Given the description of an element on the screen output the (x, y) to click on. 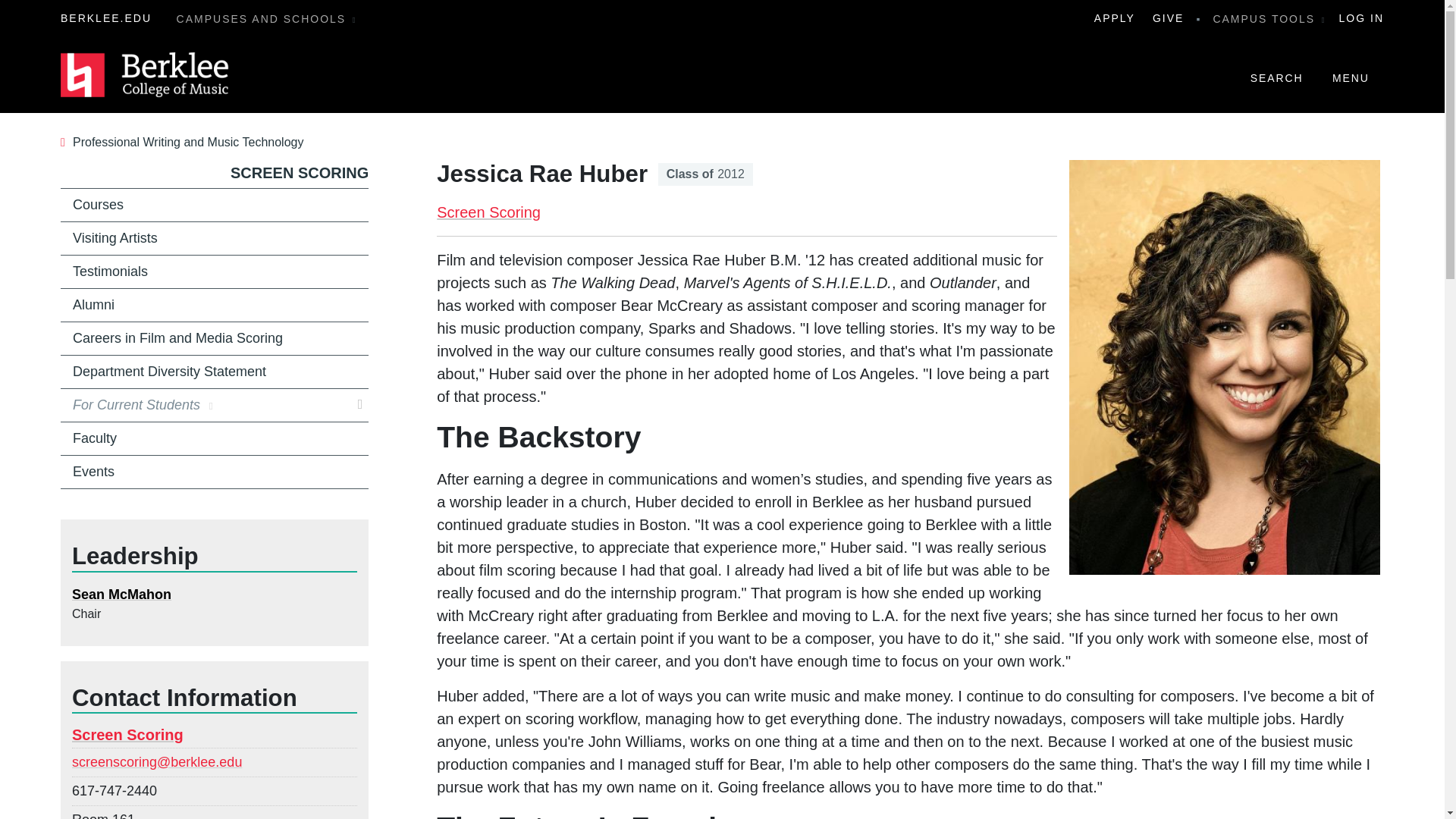
LOG IN (1361, 18)
CAMPUSES AND SCHOOLS (267, 18)
Home (146, 75)
CAMPUS TOOLS (1268, 18)
Berklee College of Music (146, 75)
GIVE (1165, 18)
SEARCH (1275, 74)
BERKLEE.EDU (106, 18)
APPLY (1112, 18)
